Given the description of an element on the screen output the (x, y) to click on. 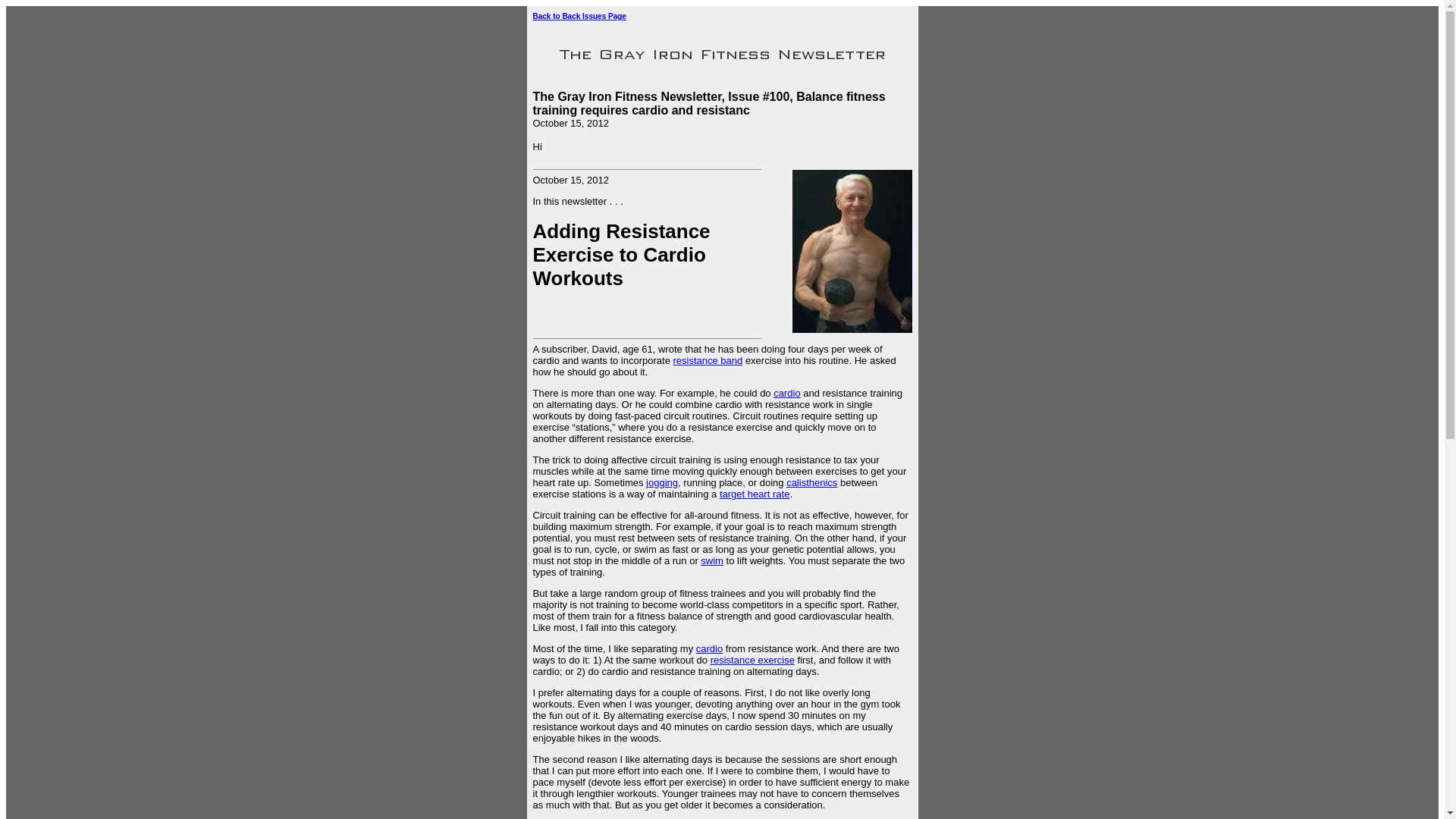
cardio (708, 648)
Back to Back Issues Page (579, 16)
target heart rate (754, 493)
jogging (662, 482)
resistance band (707, 360)
calisthenics (811, 482)
swim (711, 560)
cardio (786, 392)
resistance exercise (752, 659)
